Given the description of an element on the screen output the (x, y) to click on. 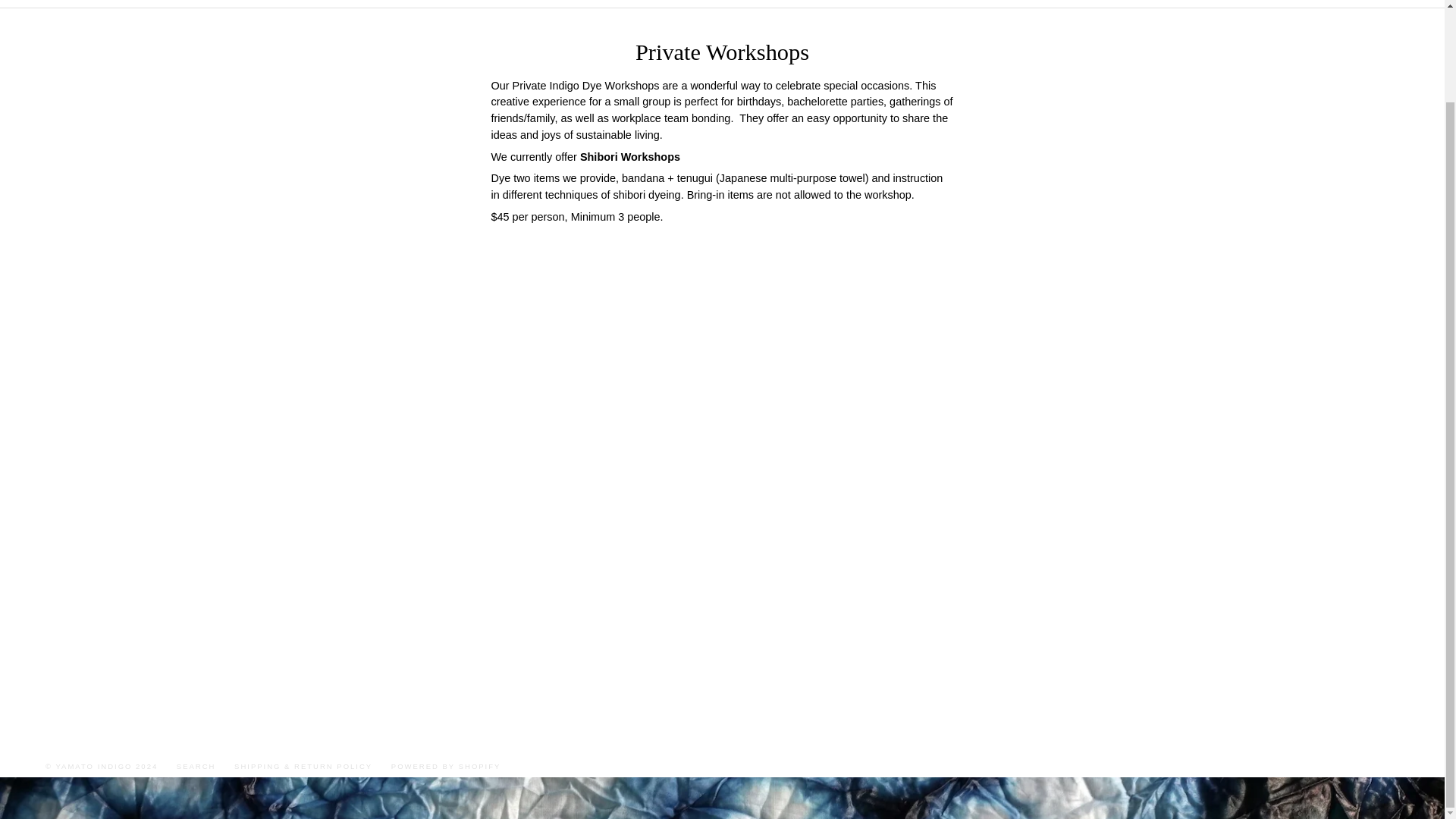
BLOG (934, 3)
SEARCH (195, 766)
ABOUT (853, 3)
WORKSHOPS (629, 3)
DYE SERVICE (750, 3)
SHOP (524, 3)
